Given the description of an element on the screen output the (x, y) to click on. 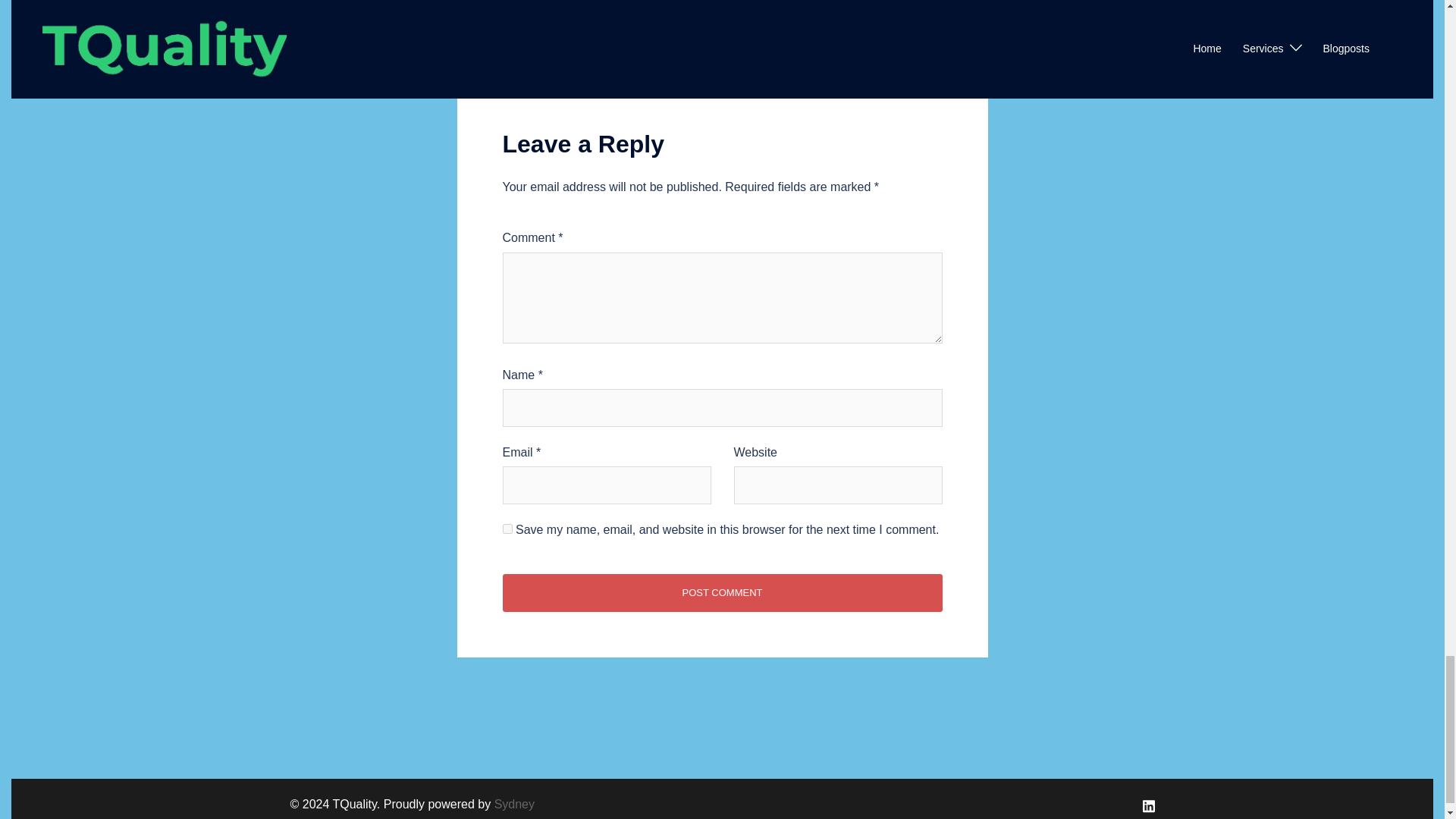
Post Comment (722, 592)
Sydney (514, 803)
Embracing Accessibility in Mobile Apps (577, 2)
yes (507, 528)
Post Comment (722, 592)
